Given the description of an element on the screen output the (x, y) to click on. 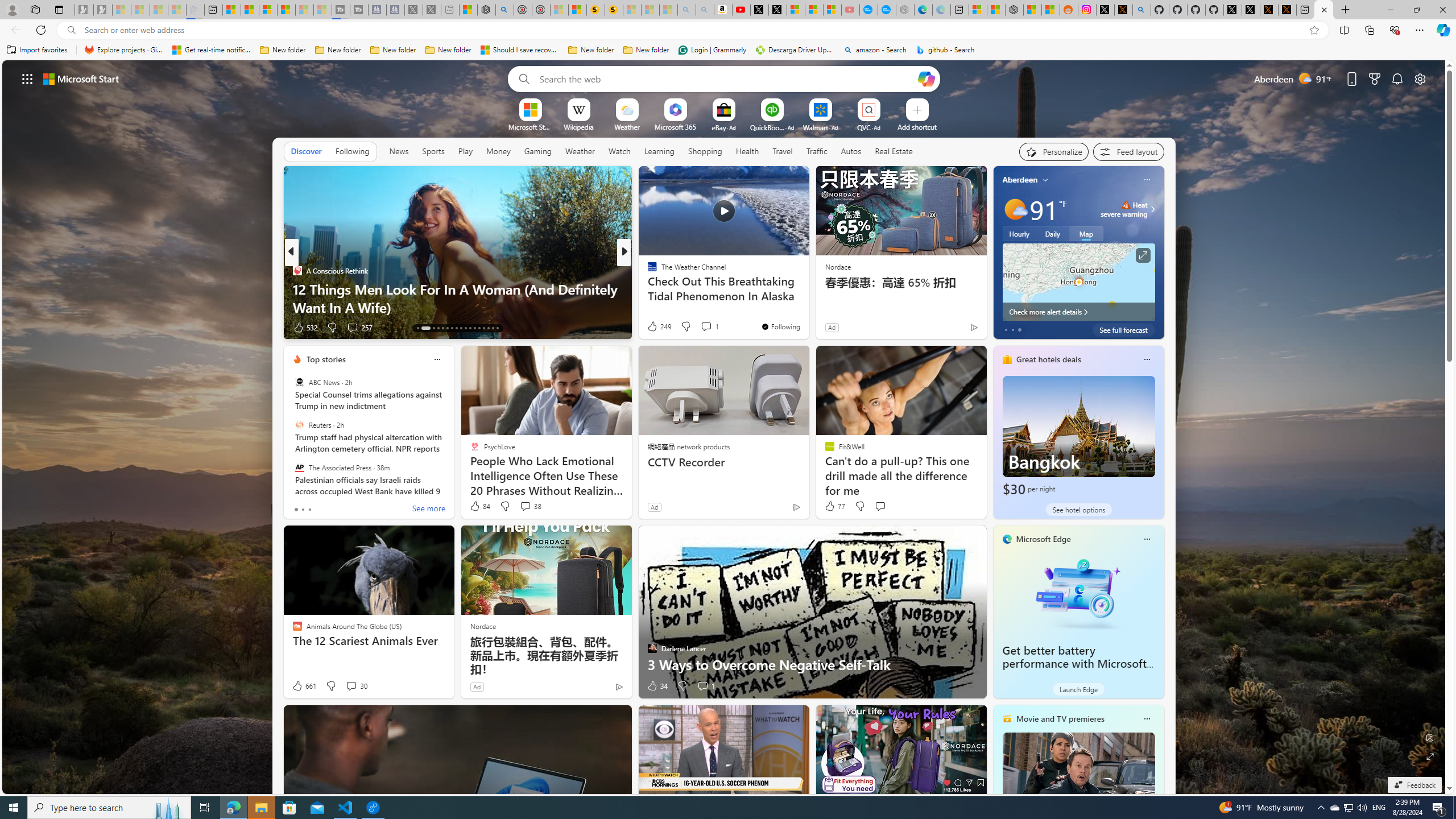
Real Estate (893, 151)
27 Like (652, 327)
See full forecast (1123, 329)
Page settings (1420, 78)
661 Like (303, 685)
hotels-header-icon (1006, 358)
AutomationID: tab-13 (417, 328)
My location (1045, 179)
Autos (851, 151)
AutomationID: tab-29 (497, 328)
Real Estate (893, 151)
